Given the description of an element on the screen output the (x, y) to click on. 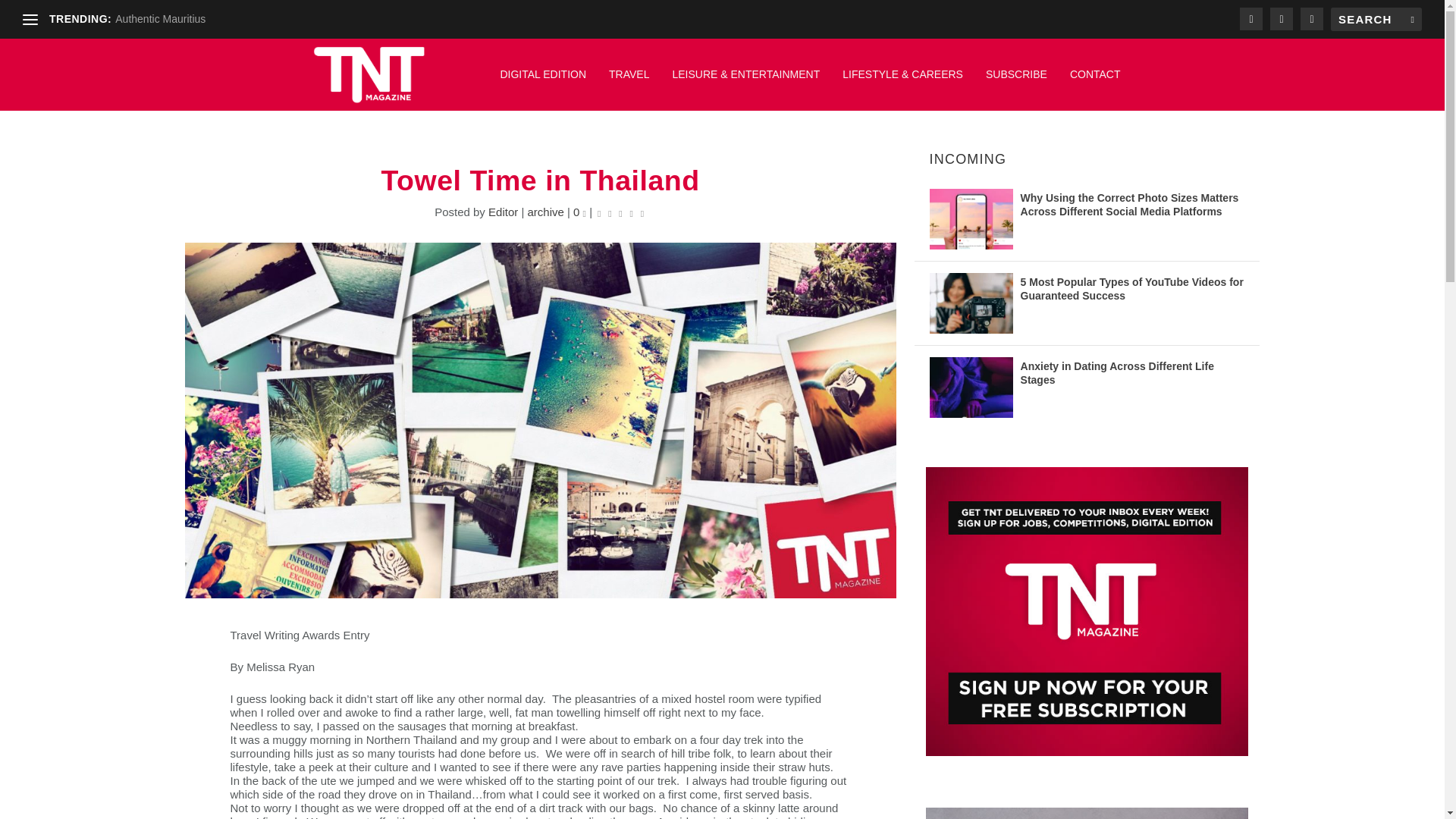
Posts by Editor (502, 211)
SUBSCRIBE (1015, 82)
0 (579, 211)
Authentic Mauritius (160, 19)
Rating: 0.00 (620, 212)
Editor (502, 211)
DIGITAL EDITION (542, 82)
archive (545, 211)
Search for: (1376, 19)
